Given the description of an element on the screen output the (x, y) to click on. 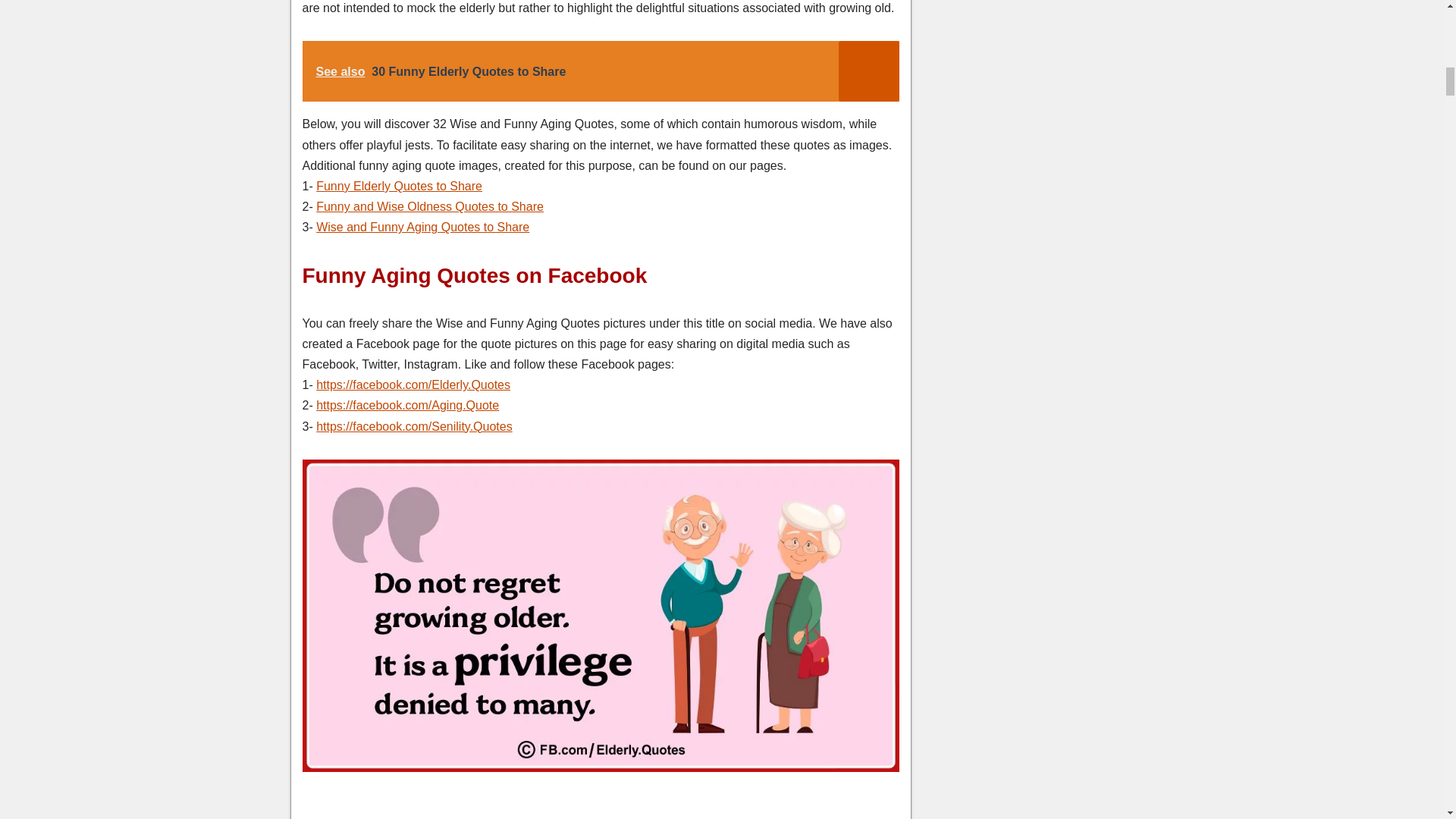
Wise and Funny Aging Quotes to Share (422, 226)
Funny Elderly Quotes to Share (398, 185)
See also  30 Funny Elderly Quotes to Share (599, 70)
Funny and Wise Oldness Quotes to Share (429, 205)
